Given the description of an element on the screen output the (x, y) to click on. 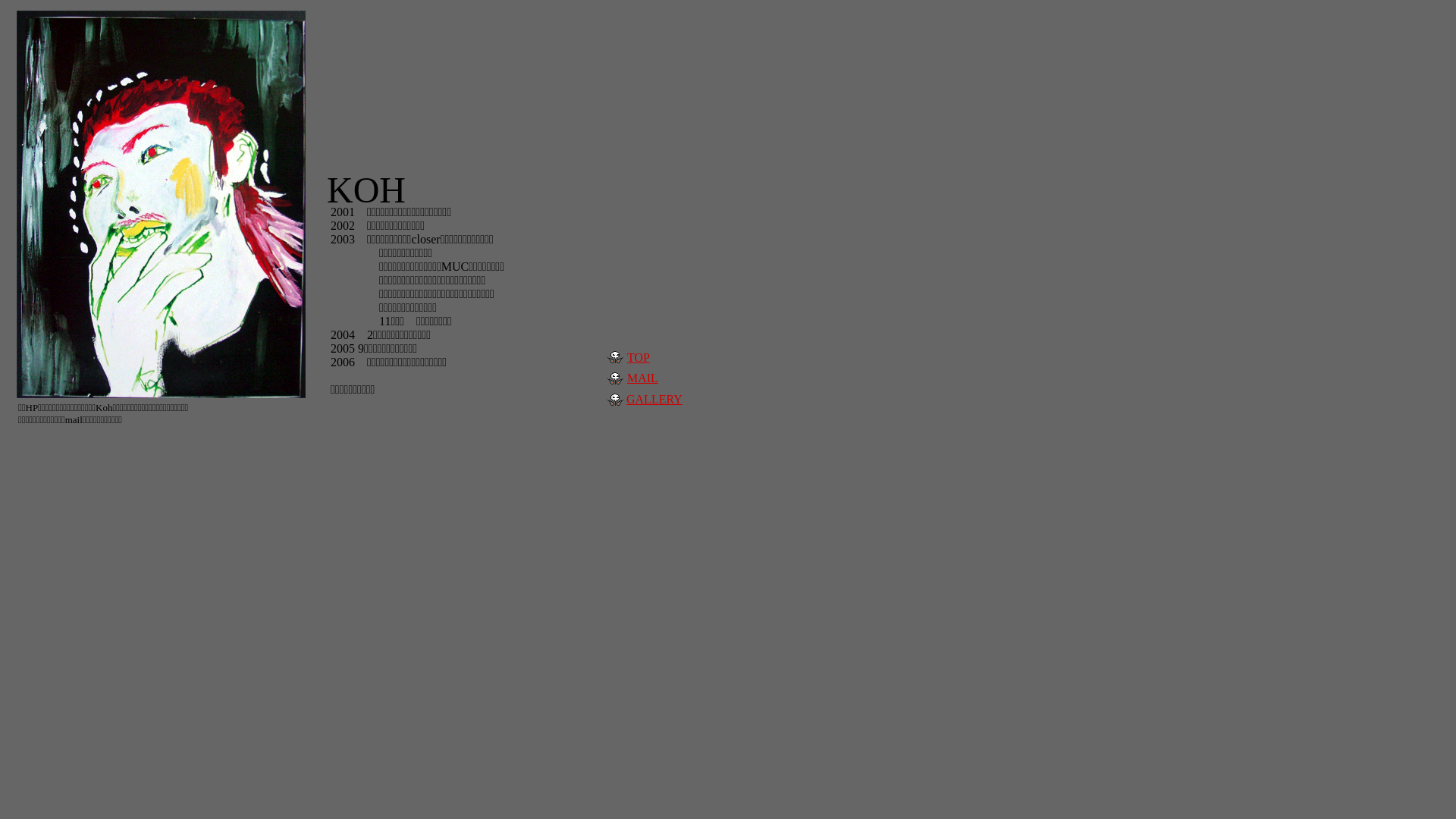
TOP Element type: text (638, 357)
MAIL Element type: text (642, 377)
GALLERY Element type: text (654, 398)
